Given the description of an element on the screen output the (x, y) to click on. 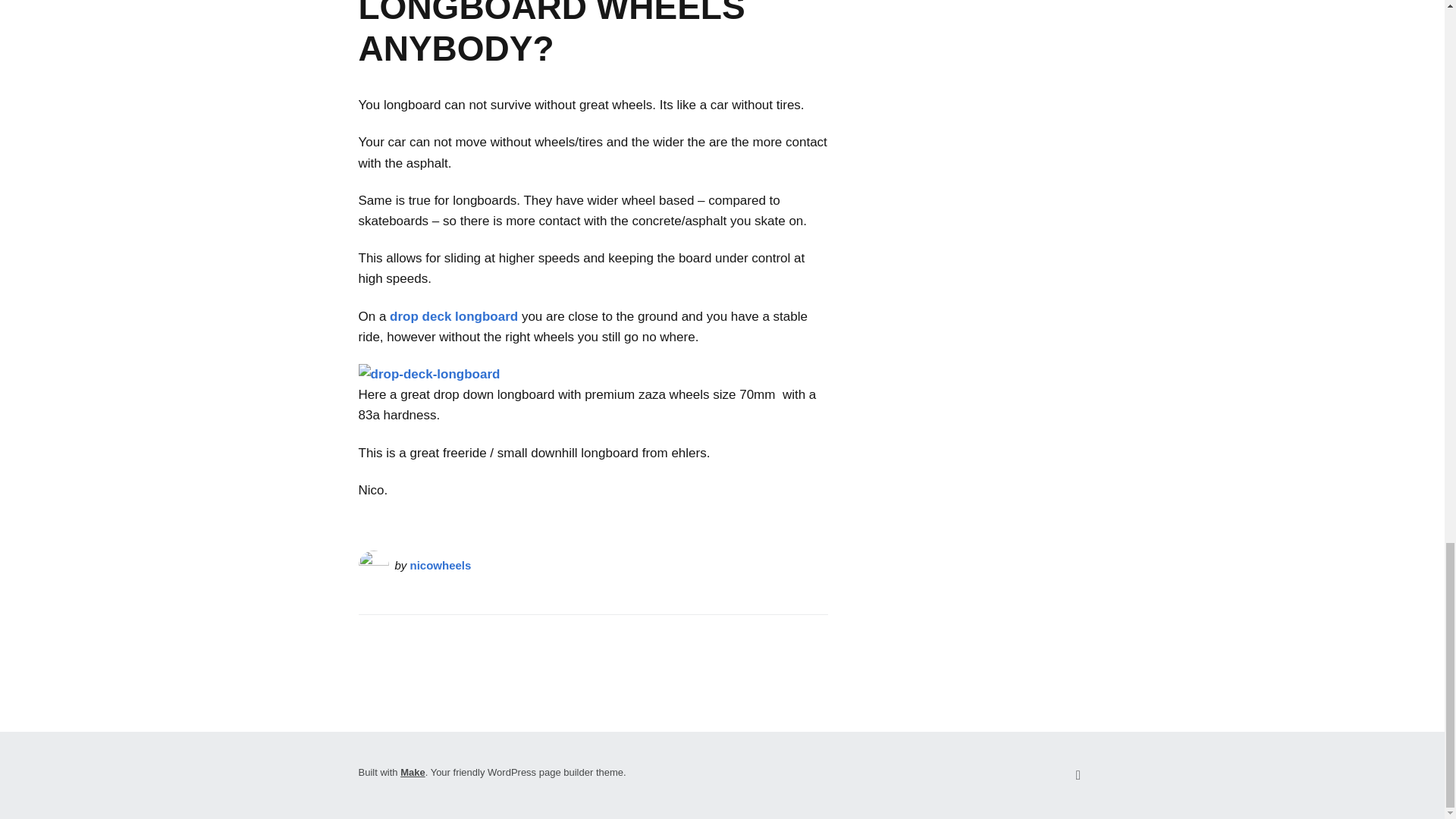
nicowheels (440, 564)
drop deck longboard (454, 316)
Make (412, 772)
HELLO WORLD, LONGBOARD WHEELS ANYBODY? (551, 33)
